Given the description of an element on the screen output the (x, y) to click on. 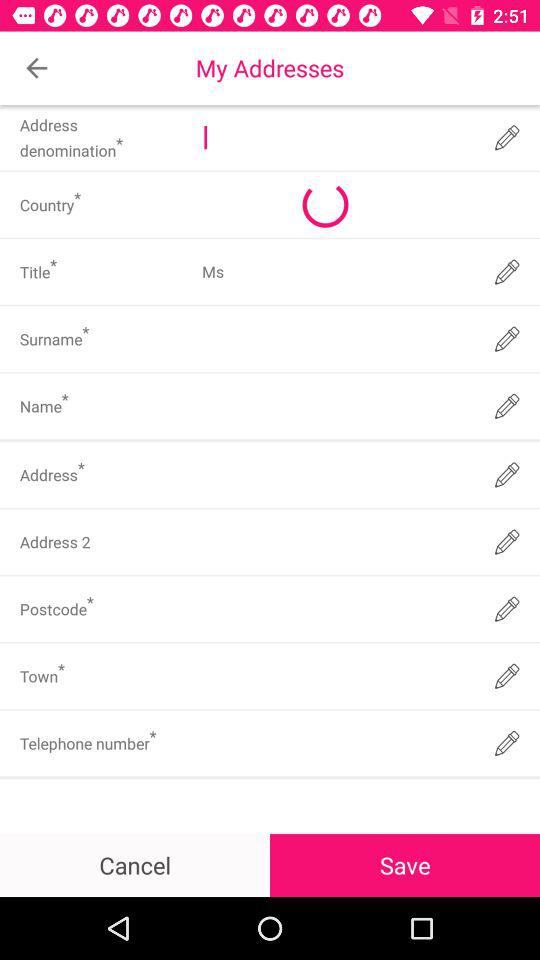
address bar (335, 137)
